Given the description of an element on the screen output the (x, y) to click on. 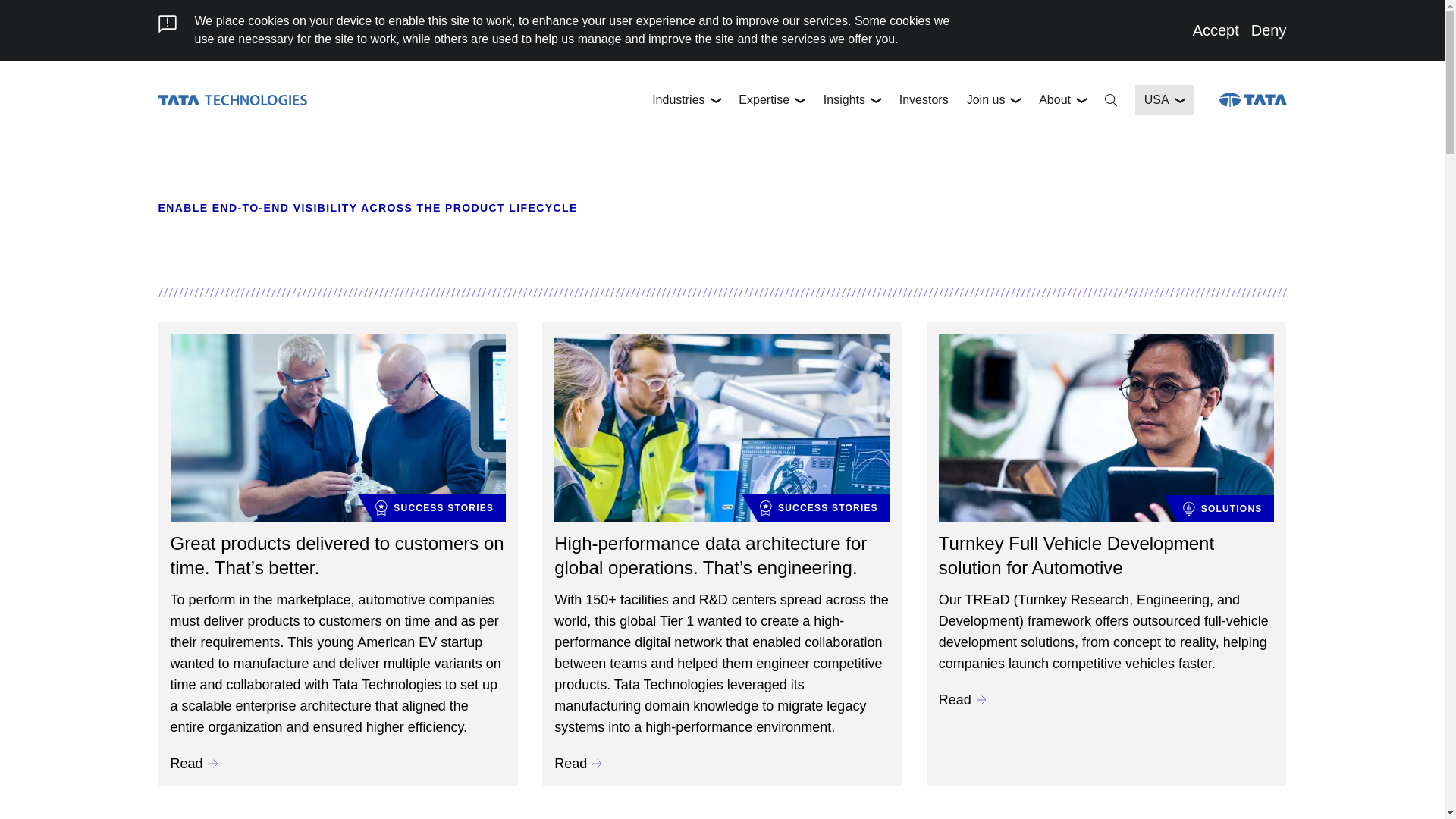
Insights (851, 100)
Expertise (771, 100)
Industries (686, 100)
Accept (1215, 29)
Investors (923, 100)
Search (1110, 100)
About (1062, 100)
Join us (994, 100)
Deny (1268, 29)
USA (1164, 100)
USA (1164, 100)
